Given the description of an element on the screen output the (x, y) to click on. 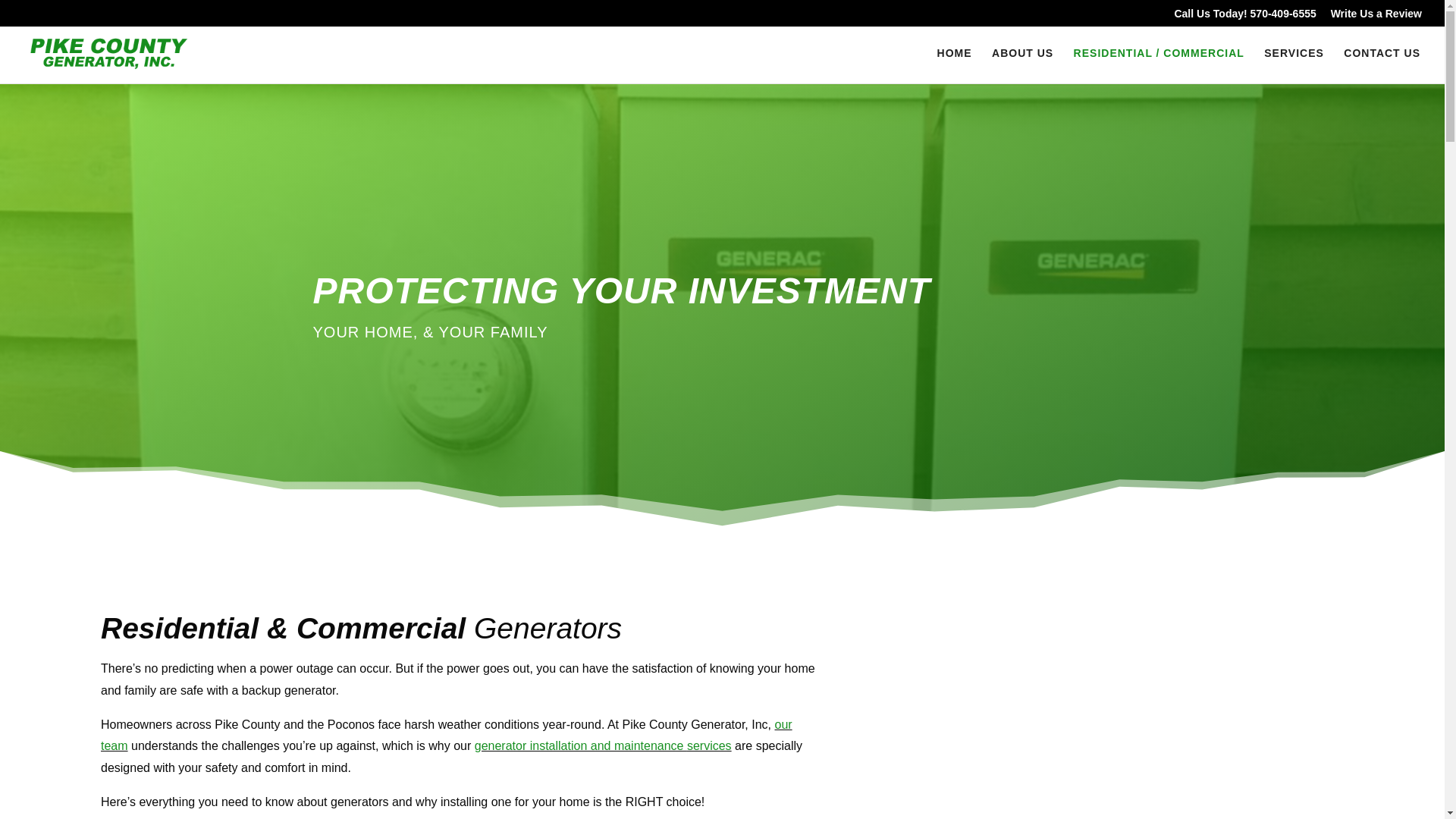
our team (446, 735)
services (709, 745)
ABOUT US (1021, 65)
generator installation and maintenance (580, 745)
Write Us a Review (1376, 16)
Call Us Today! 570-409-6555 (1244, 16)
CONTACT US (1382, 65)
HOME (954, 65)
SERVICES (1293, 65)
